Given the description of an element on the screen output the (x, y) to click on. 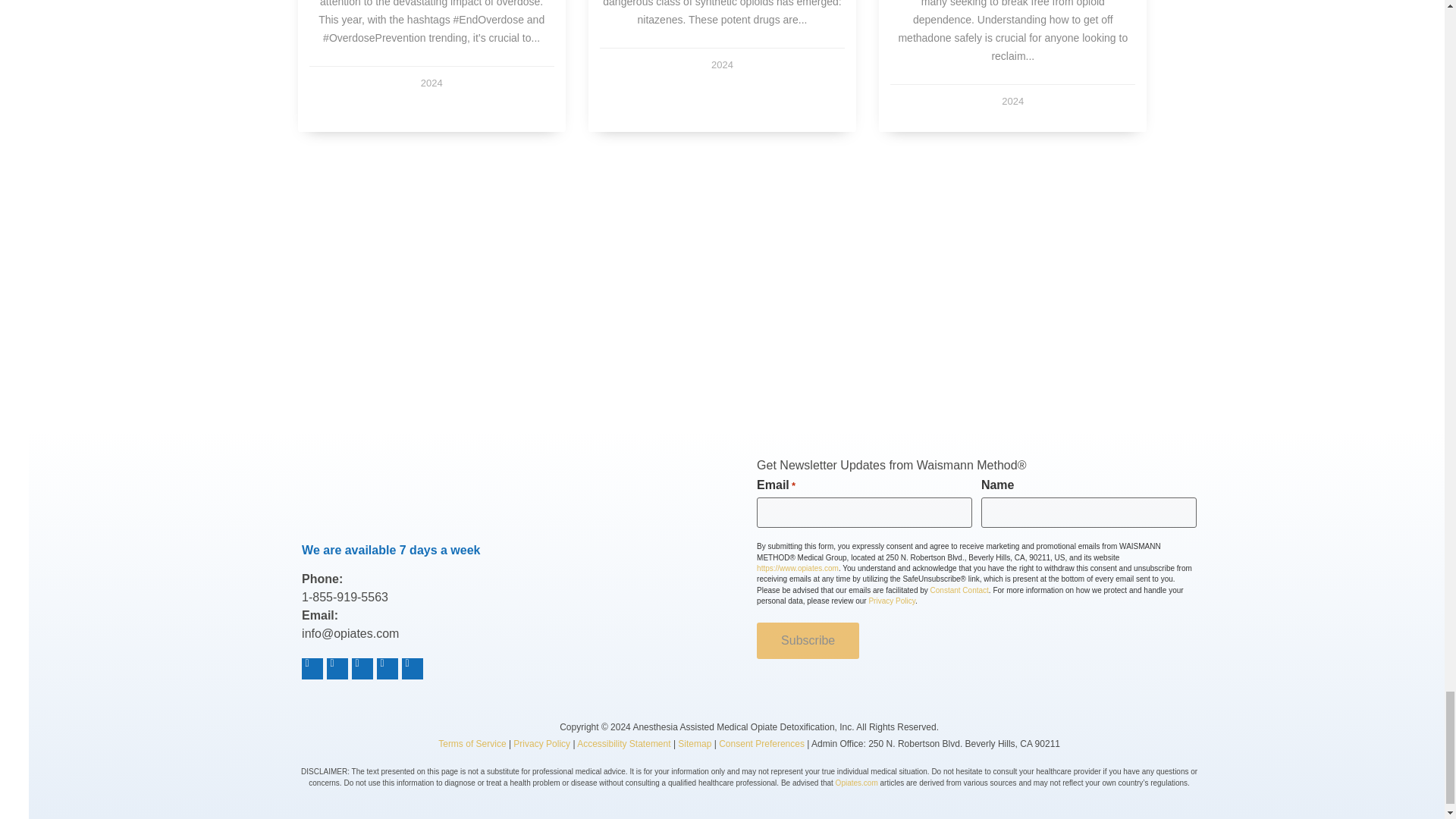
expertise (809, 328)
Subscribe (808, 640)
